Given the description of an element on the screen output the (x, y) to click on. 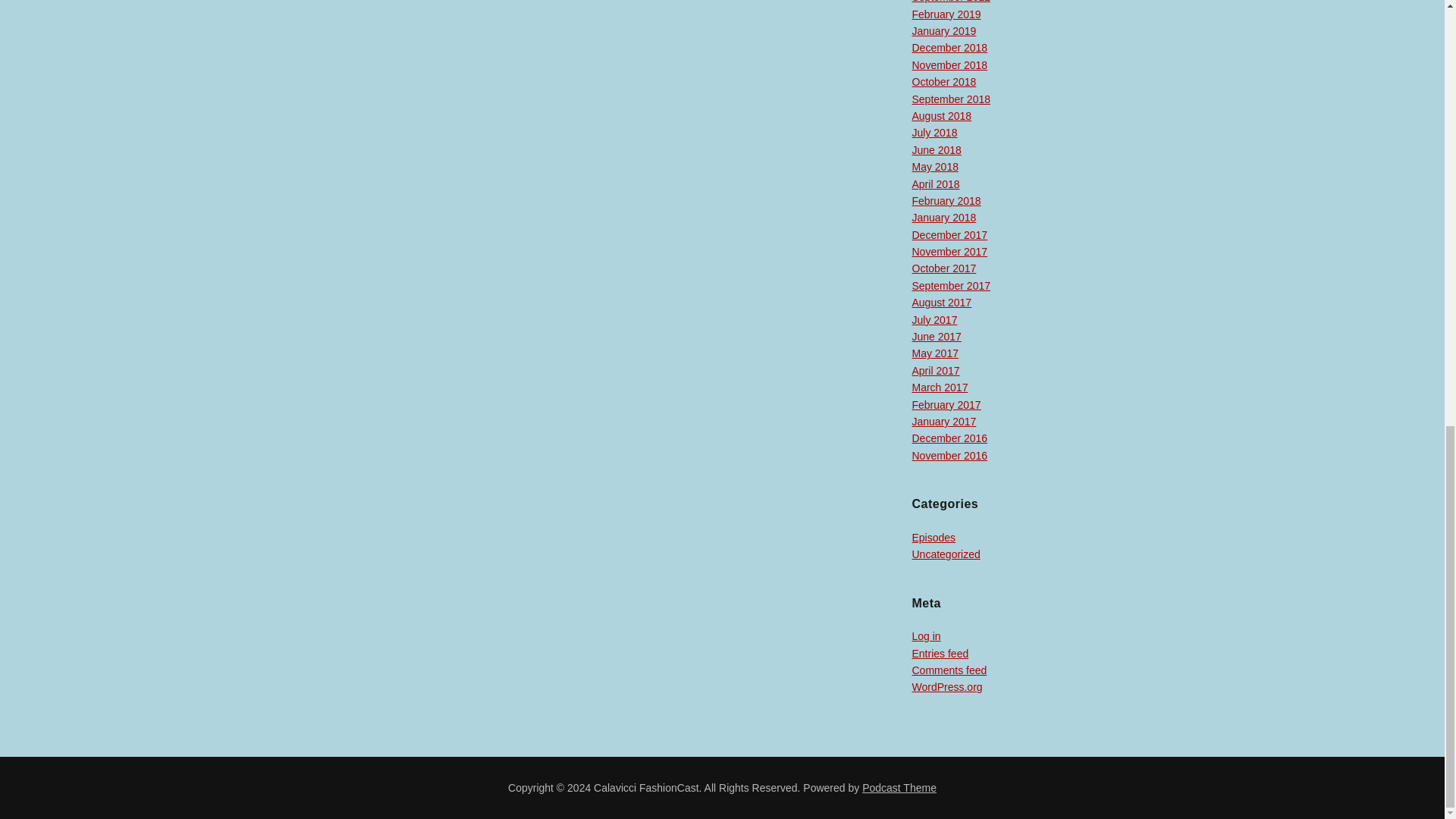
September 2022 (950, 1)
February 2019 (945, 14)
October 2018 (943, 81)
May 2018 (934, 166)
July 2018 (933, 132)
September 2018 (950, 99)
August 2018 (941, 115)
June 2018 (935, 150)
April 2018 (935, 184)
December 2018 (949, 47)
January 2019 (943, 30)
November 2018 (949, 64)
